Given the description of an element on the screen output the (x, y) to click on. 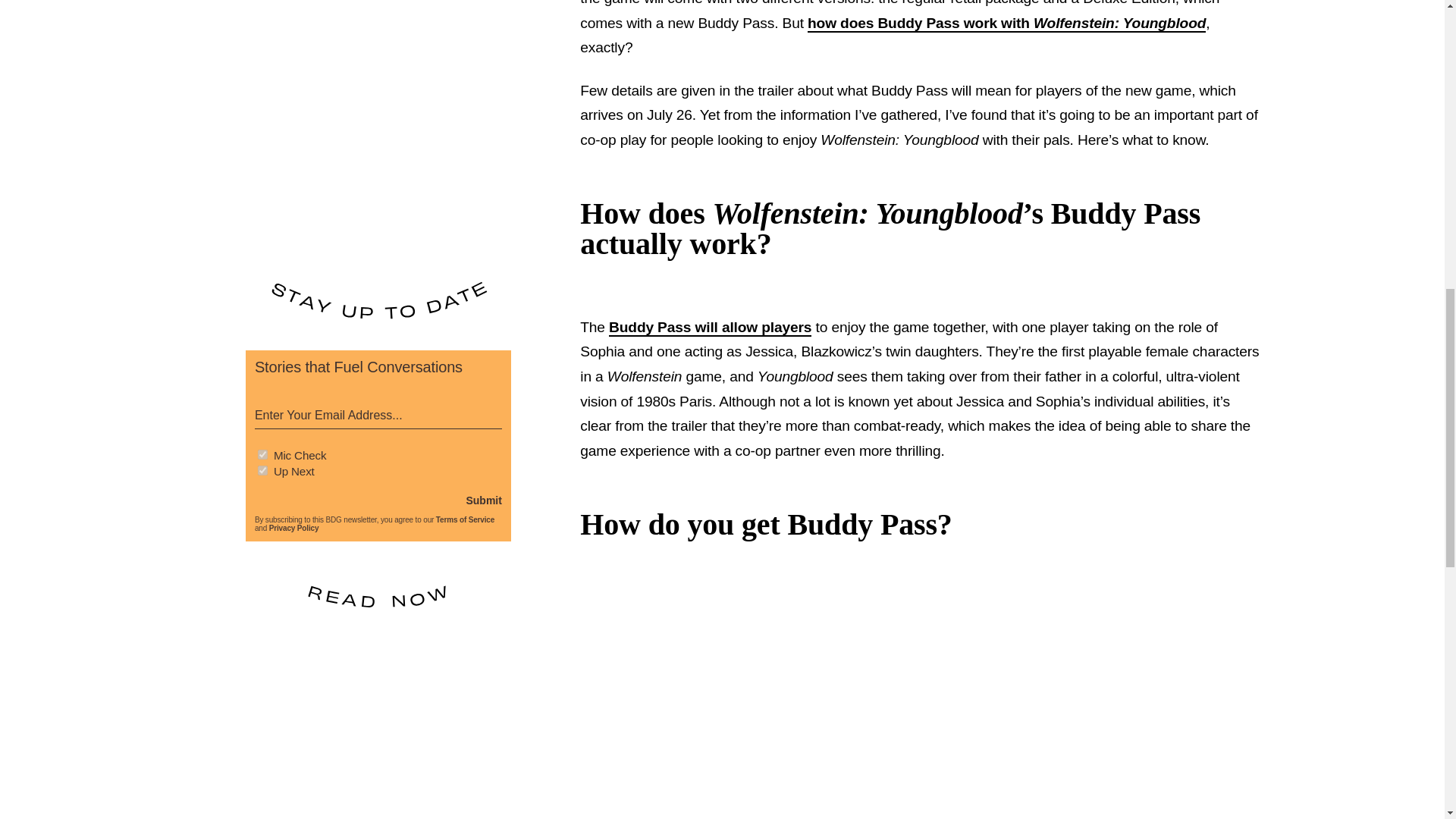
Submit (482, 500)
Buddy Pass will allow players (709, 327)
Terms of Service (465, 519)
how does Buddy Pass work with (920, 23)
Privacy Policy (293, 528)
Wolfenstein: Youngblood (1119, 23)
